Given the description of an element on the screen output the (x, y) to click on. 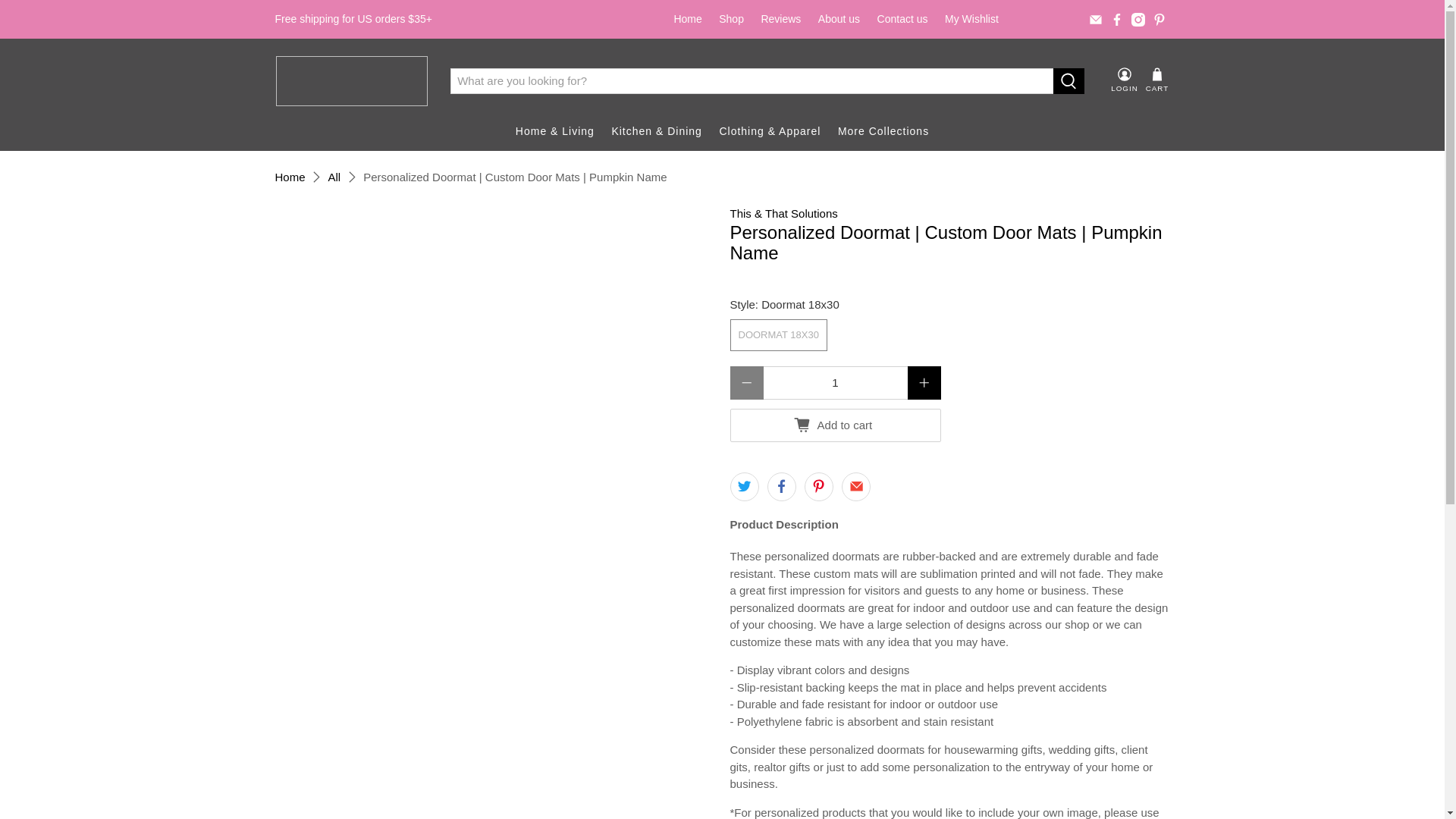
1 (834, 382)
Share this on Facebook (781, 486)
Reviews (780, 19)
More Collections (883, 131)
Email this to a friend (855, 486)
Shop (731, 19)
Contact us (901, 19)
About us (839, 19)
Home (687, 19)
Share this on Pinterest (818, 486)
My Wishlist (971, 19)
Share this on Twitter (743, 486)
